Given the description of an element on the screen output the (x, y) to click on. 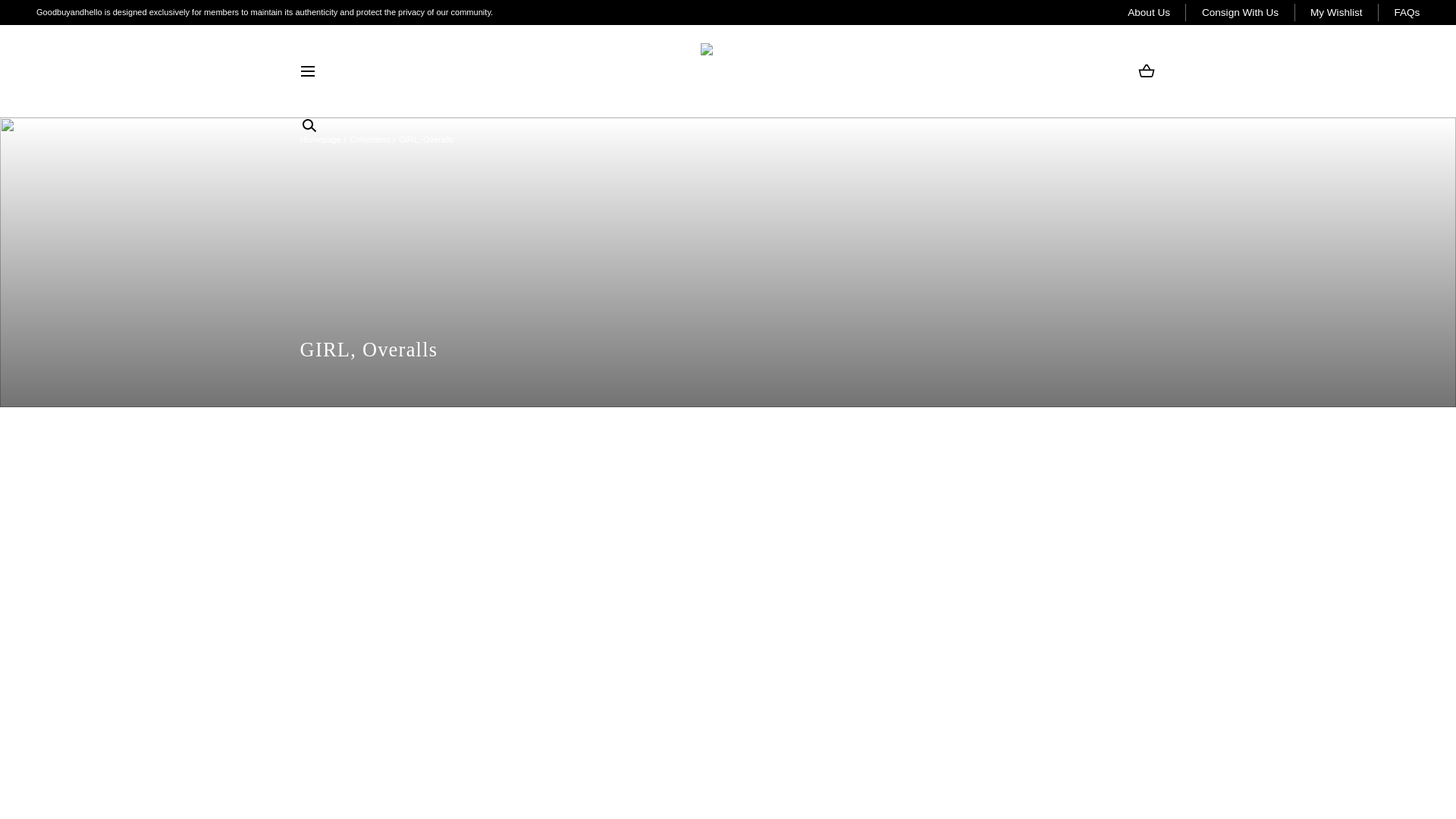
My Wishlist (1336, 12)
SKIP TO CONTENT (68, 15)
Consign With Us (1240, 12)
Goodbuyandhello (727, 70)
About Us (1148, 12)
FAQs (1406, 12)
